Given the description of an element on the screen output the (x, y) to click on. 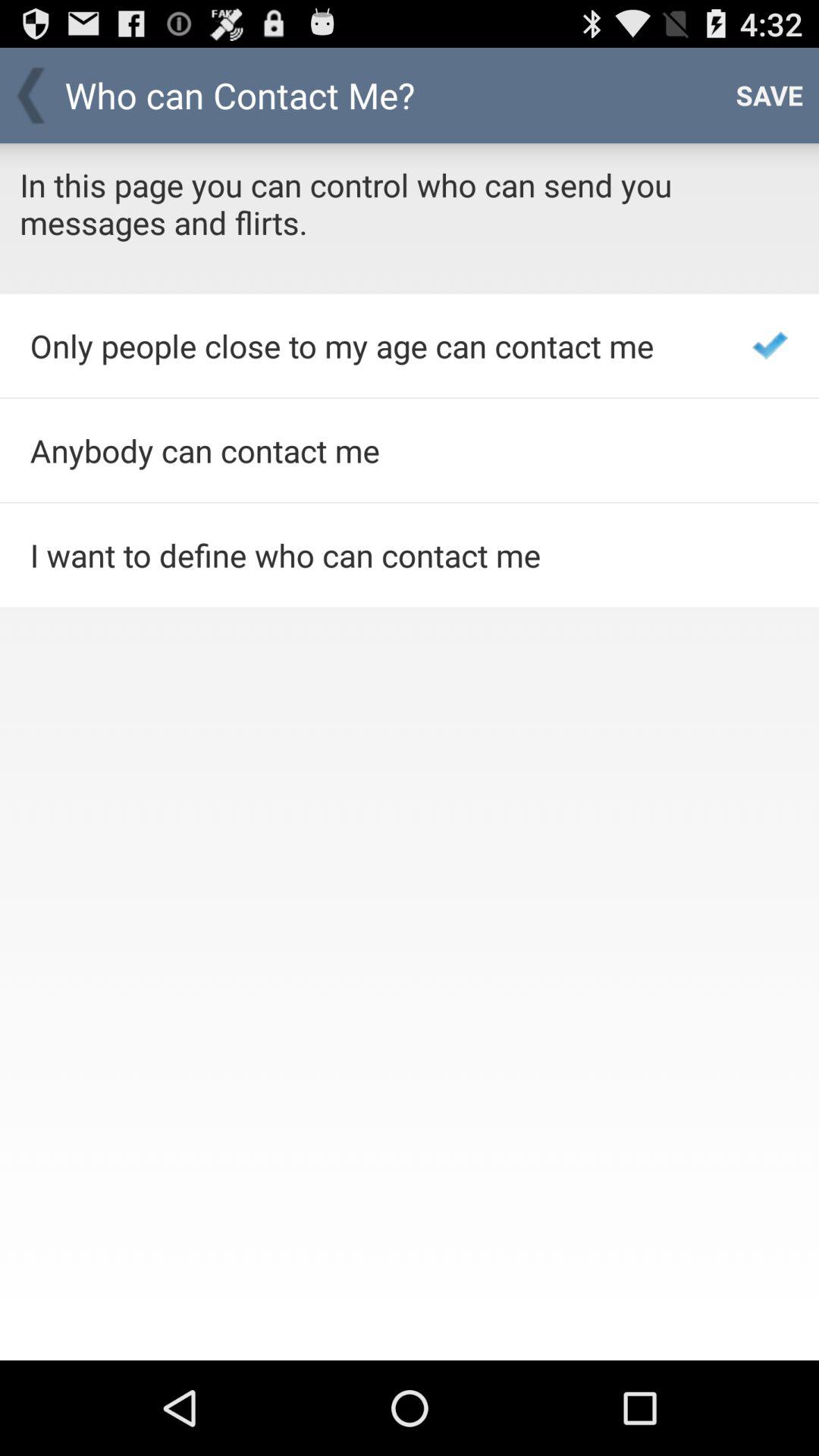
select item below in this page item (371, 345)
